Given the description of an element on the screen output the (x, y) to click on. 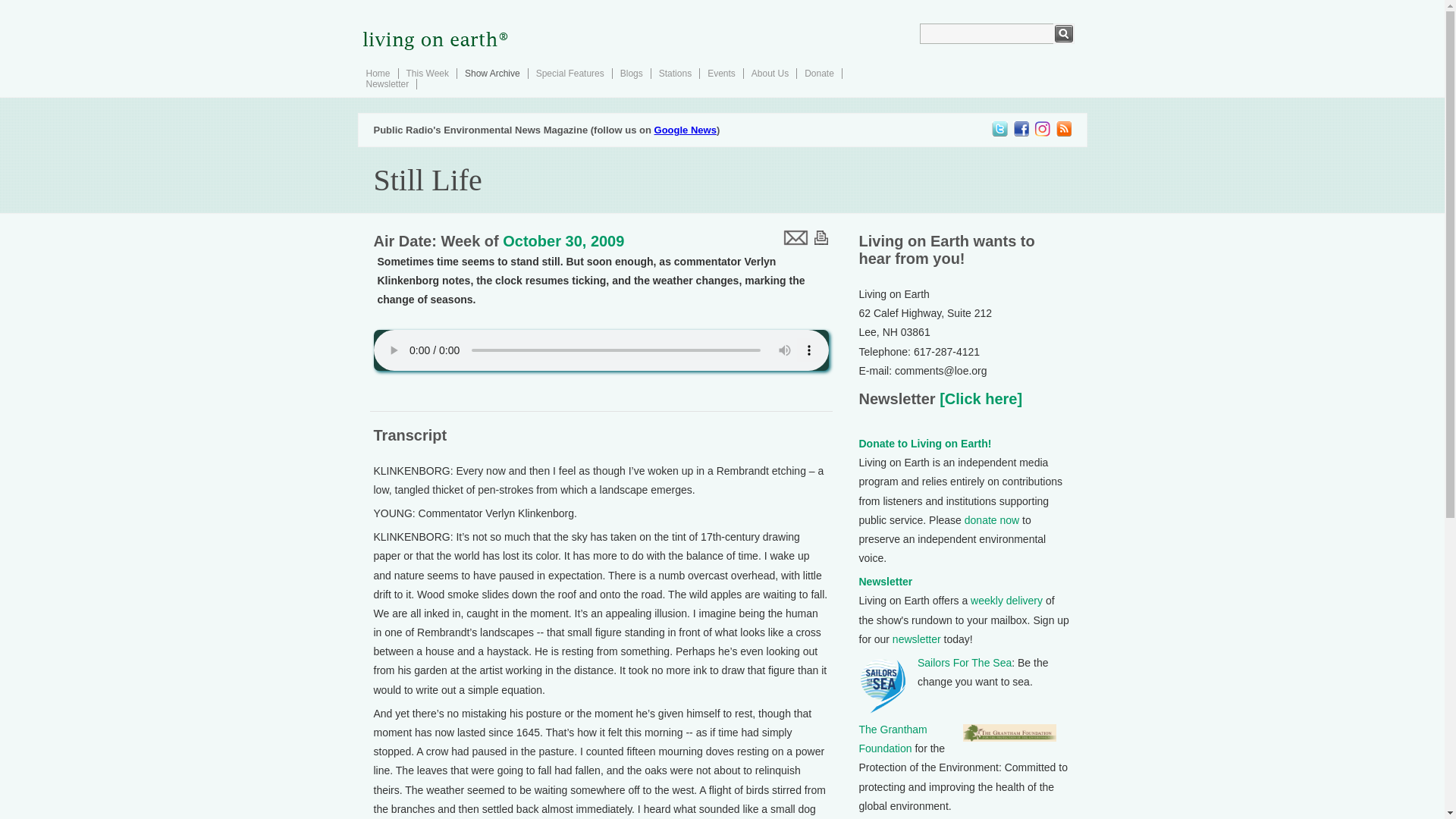
donate now (991, 520)
October 30, 2009 (563, 240)
newsletter (916, 639)
Events (721, 72)
Stations (675, 72)
email (794, 236)
Newsletter (387, 83)
Blogs (631, 72)
Home (377, 72)
Special Features (569, 72)
Sailors For The Sea (964, 662)
Newsletter (885, 581)
print (819, 236)
Donate to Living on Earth! (925, 443)
The Grantham Foundation (892, 738)
